Given the description of an element on the screen output the (x, y) to click on. 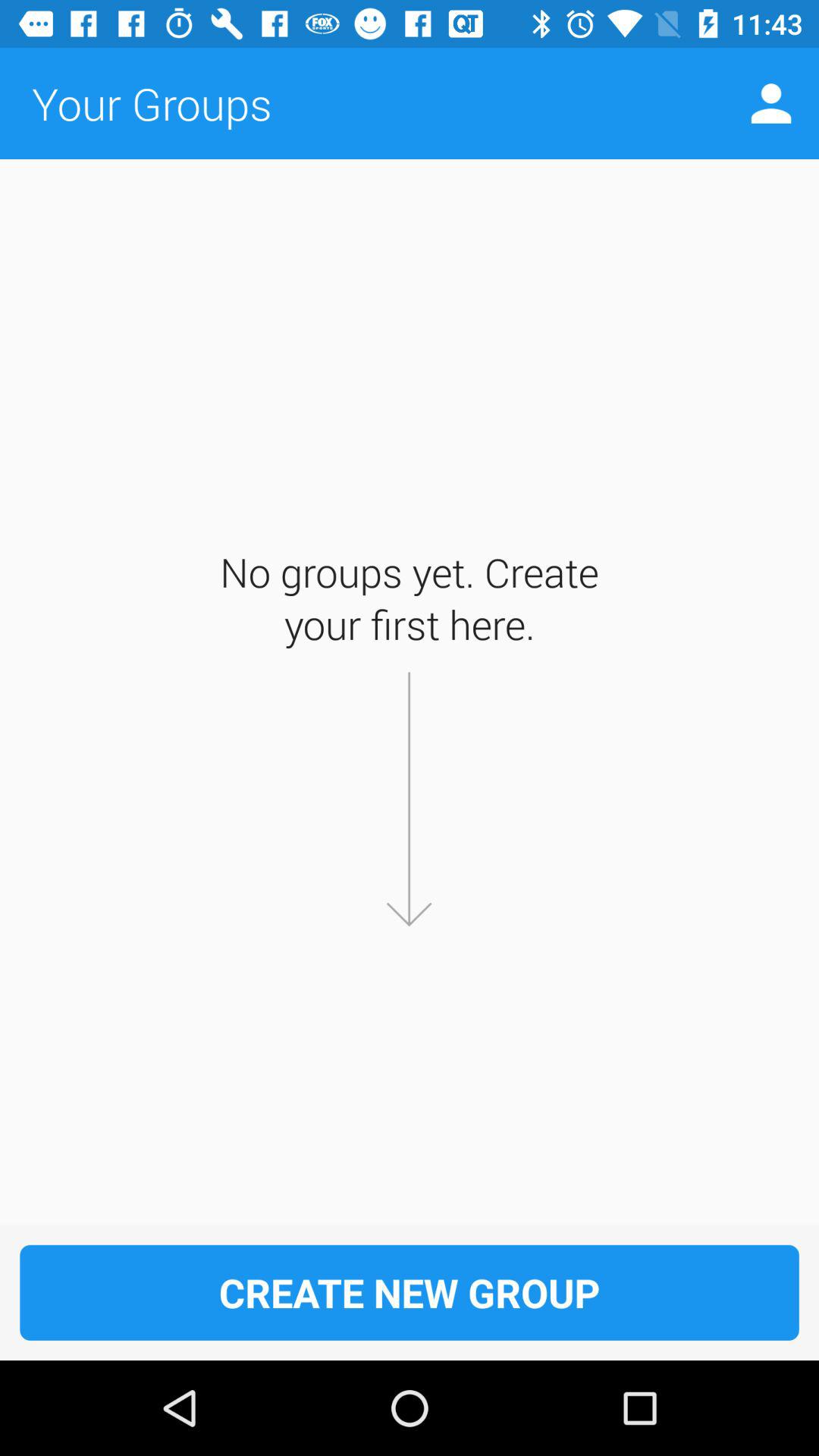
scroll to create new group icon (409, 1292)
